Given the description of an element on the screen output the (x, y) to click on. 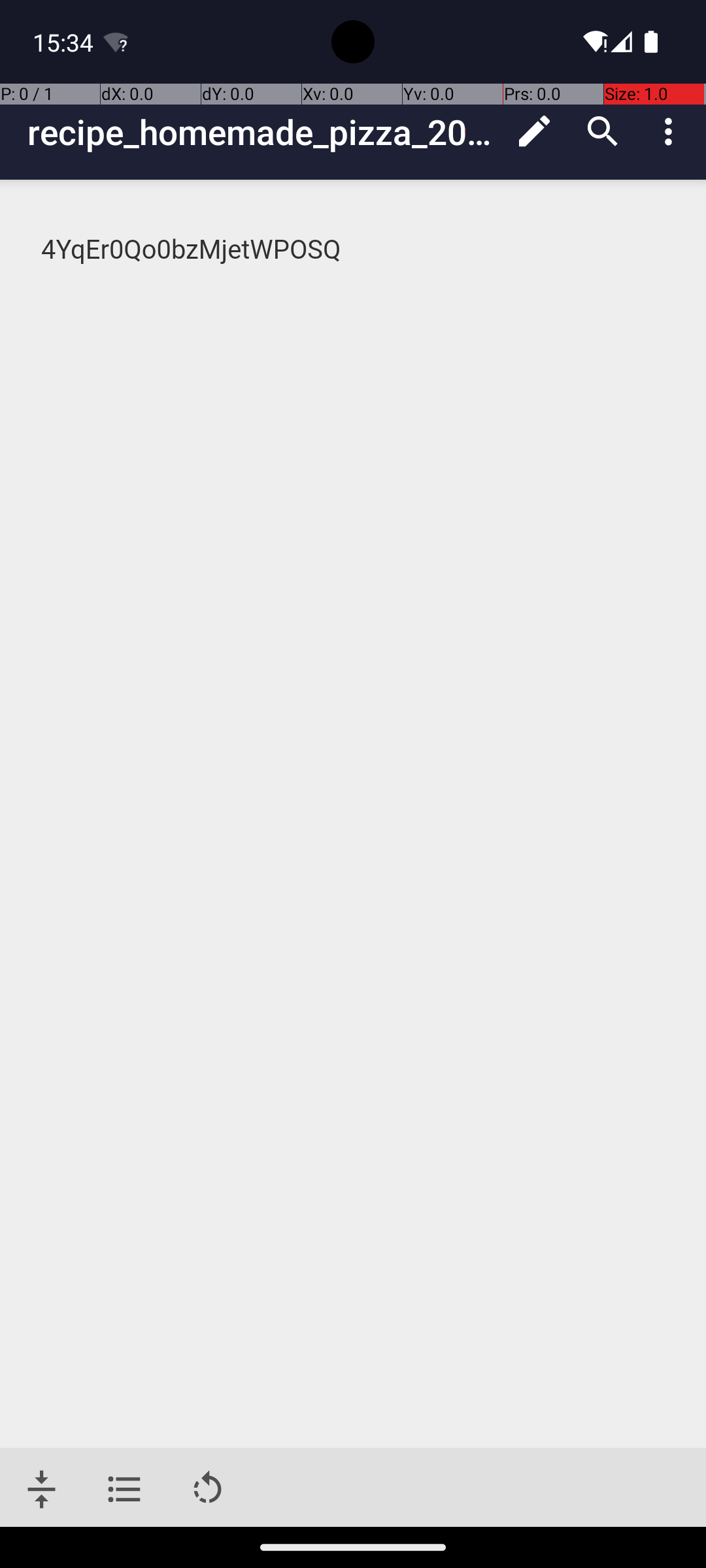
recipe_homemade_pizza_2023_10_06 Element type: android.widget.TextView (263, 131)
4YqEr0Qo0bzMjetWPOSQ Element type: android.widget.TextView (354, 249)
